Given the description of an element on the screen output the (x, y) to click on. 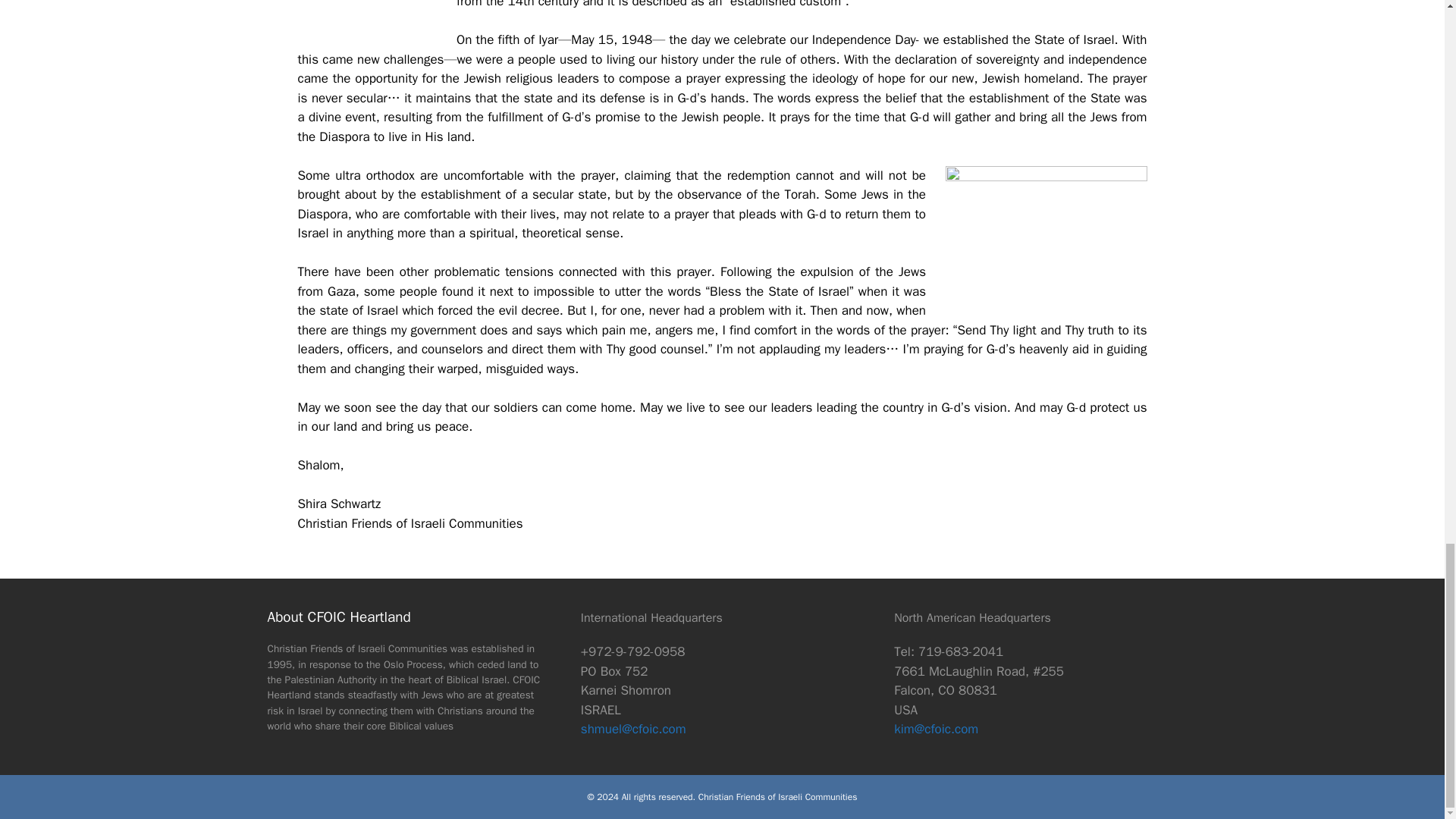
Orthodox men (1045, 238)
